Given the description of an element on the screen output the (x, y) to click on. 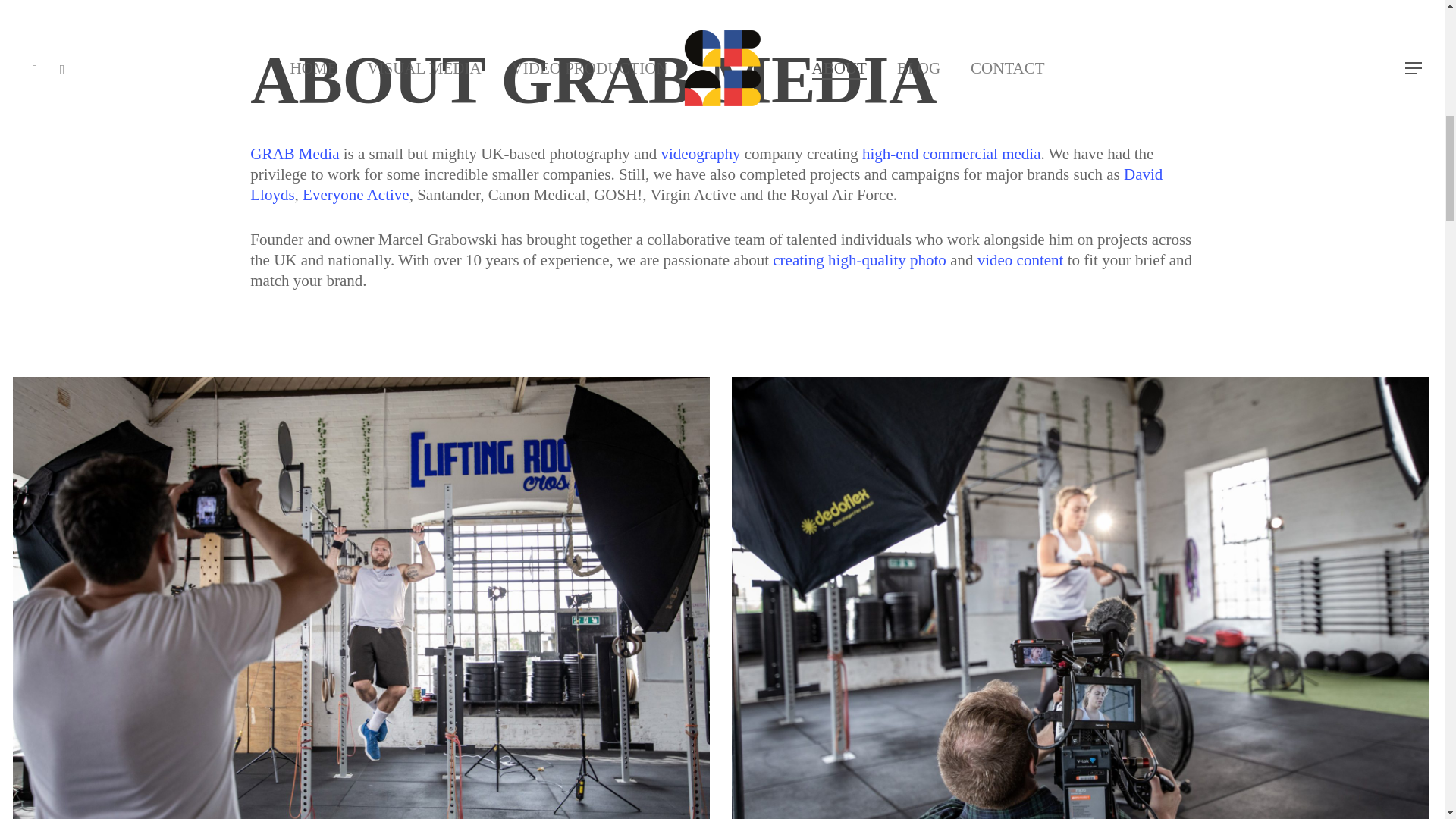
video content (1020, 259)
David Lloyds (705, 184)
Everyone Active (355, 194)
creating high-quality photo (859, 259)
high-end commercial media (951, 153)
GRAB Media (294, 153)
videography (701, 153)
